Given the description of an element on the screen output the (x, y) to click on. 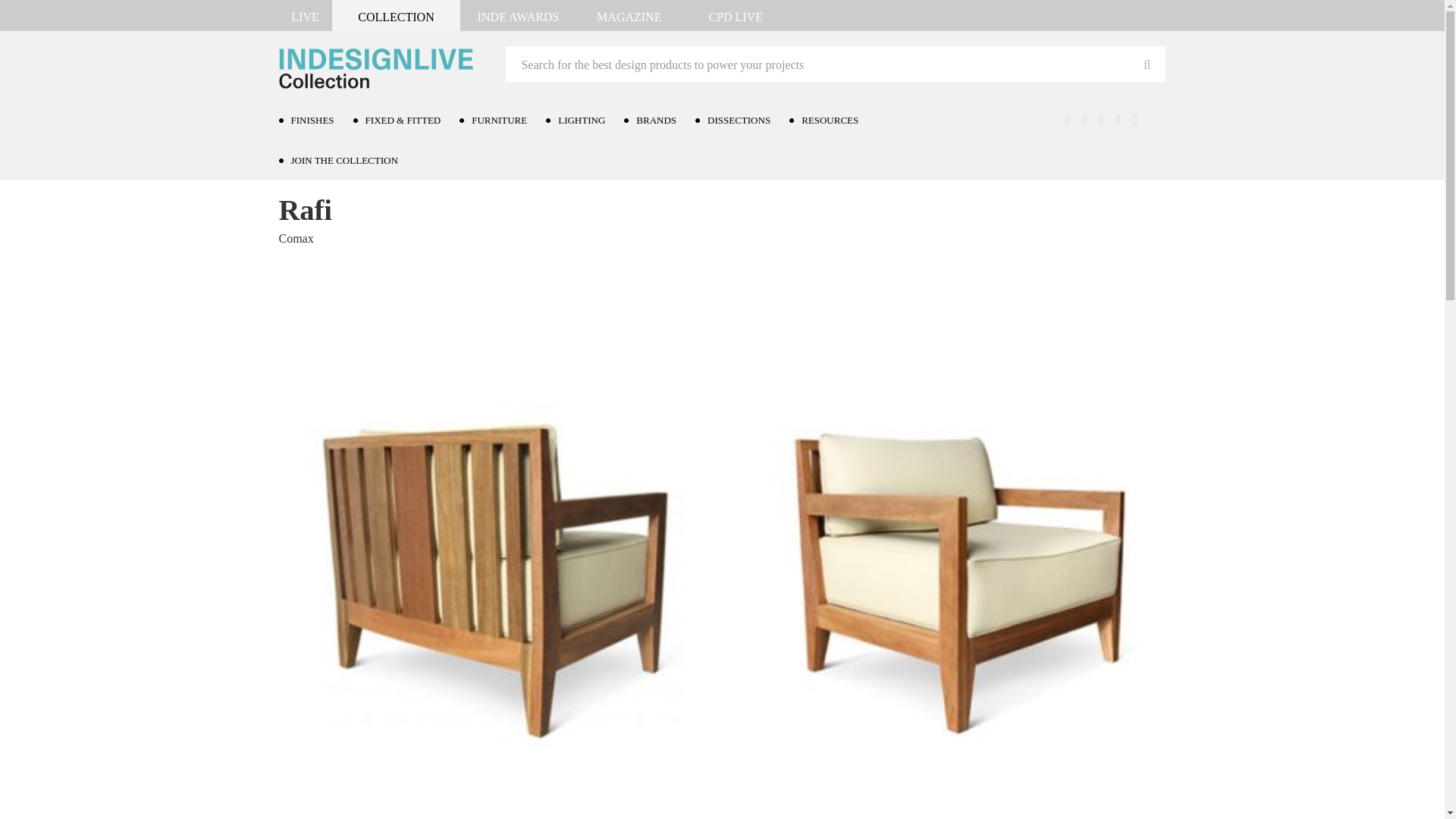
JOIN THE COLLECTION (347, 160)
Lounge Seating (410, 169)
FINISHES (316, 119)
LIGHTING (585, 119)
Home (293, 169)
RESOURCES (833, 119)
DISSECTIONS (742, 119)
BRANDS (659, 119)
Furniture (339, 169)
FURNITURE (503, 119)
